Given the description of an element on the screen output the (x, y) to click on. 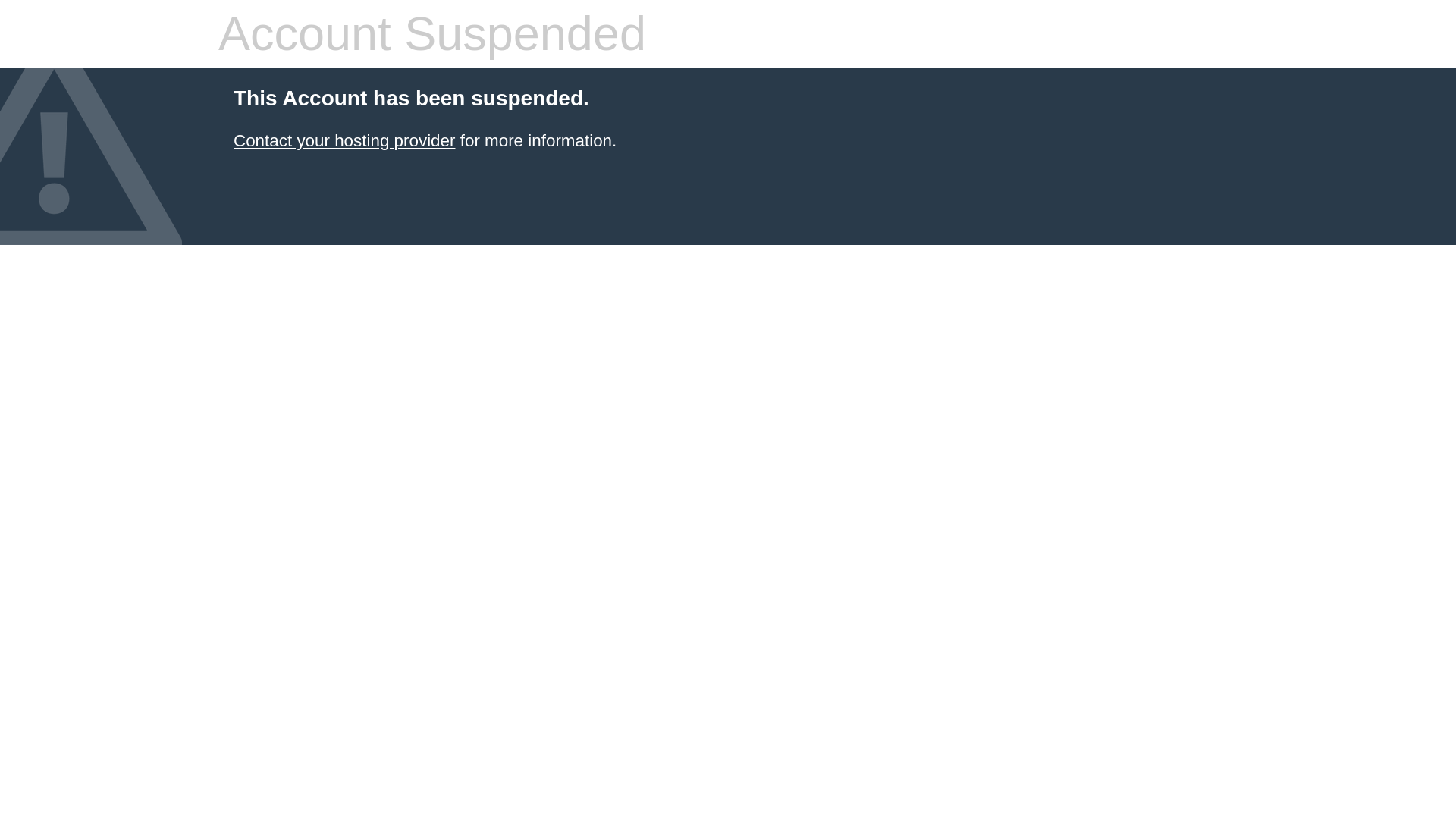
Contact your hosting provider (343, 140)
